Given the description of an element on the screen output the (x, y) to click on. 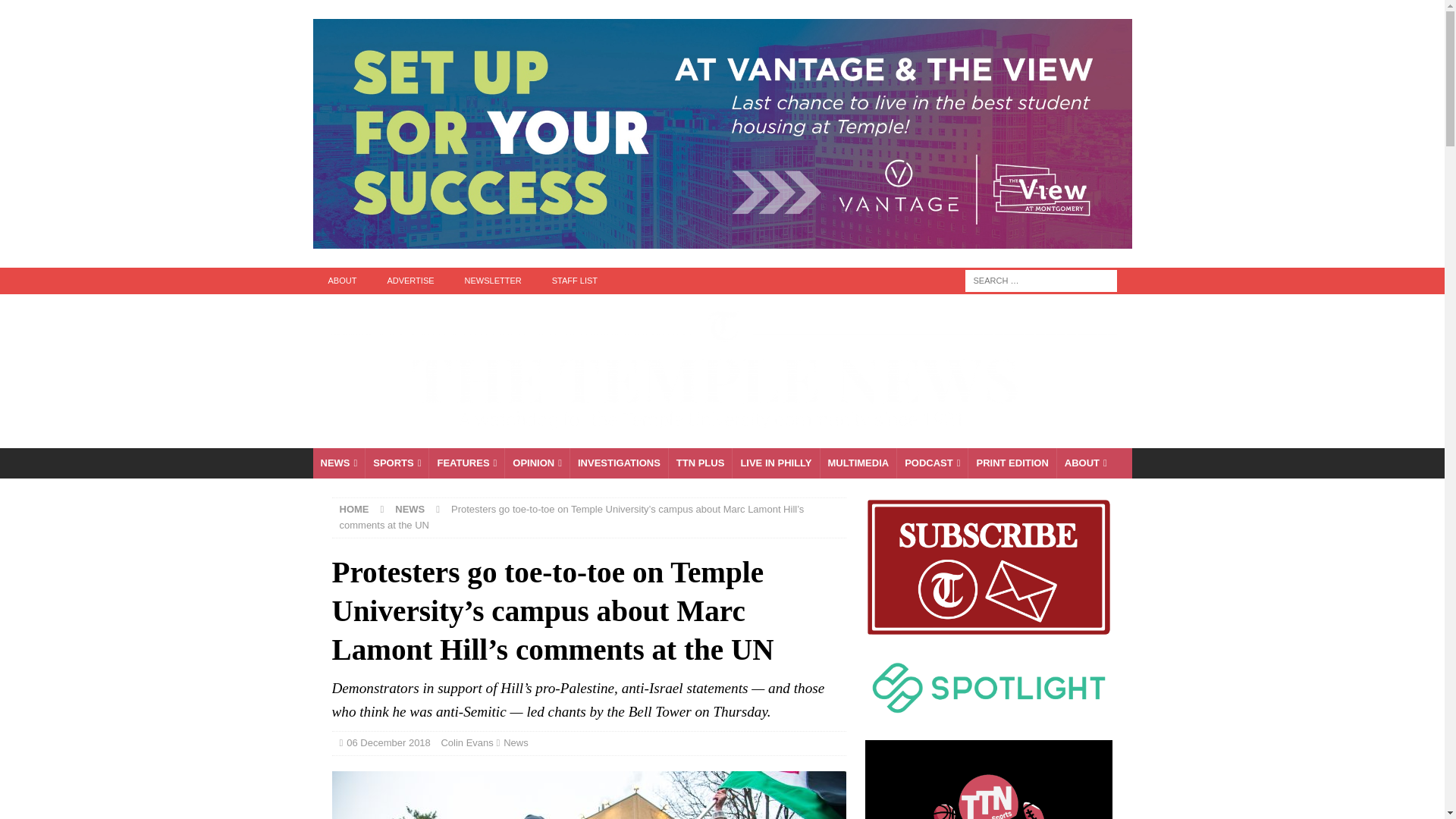
NEWSLETTER (493, 280)
Posts by Colin Evans (467, 742)
Longform (700, 463)
ADVERTISE (409, 280)
STAFF LIST (574, 280)
ABOUT (342, 280)
Search (56, 11)
